Given the description of an element on the screen output the (x, y) to click on. 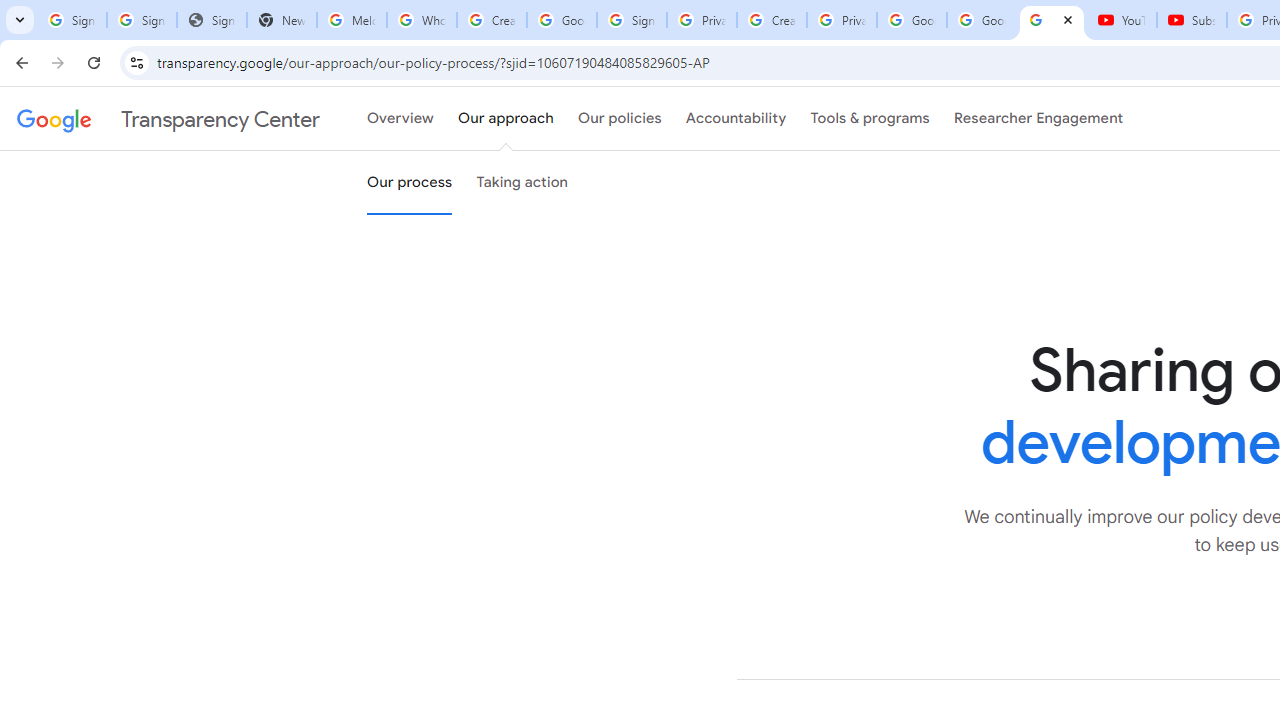
Transparency Center (167, 119)
Create your Google Account (772, 20)
New Tab (282, 20)
Our process (409, 183)
Accountability (735, 119)
Taking action (522, 183)
Sign in - Google Accounts (631, 20)
